Given the description of an element on the screen output the (x, y) to click on. 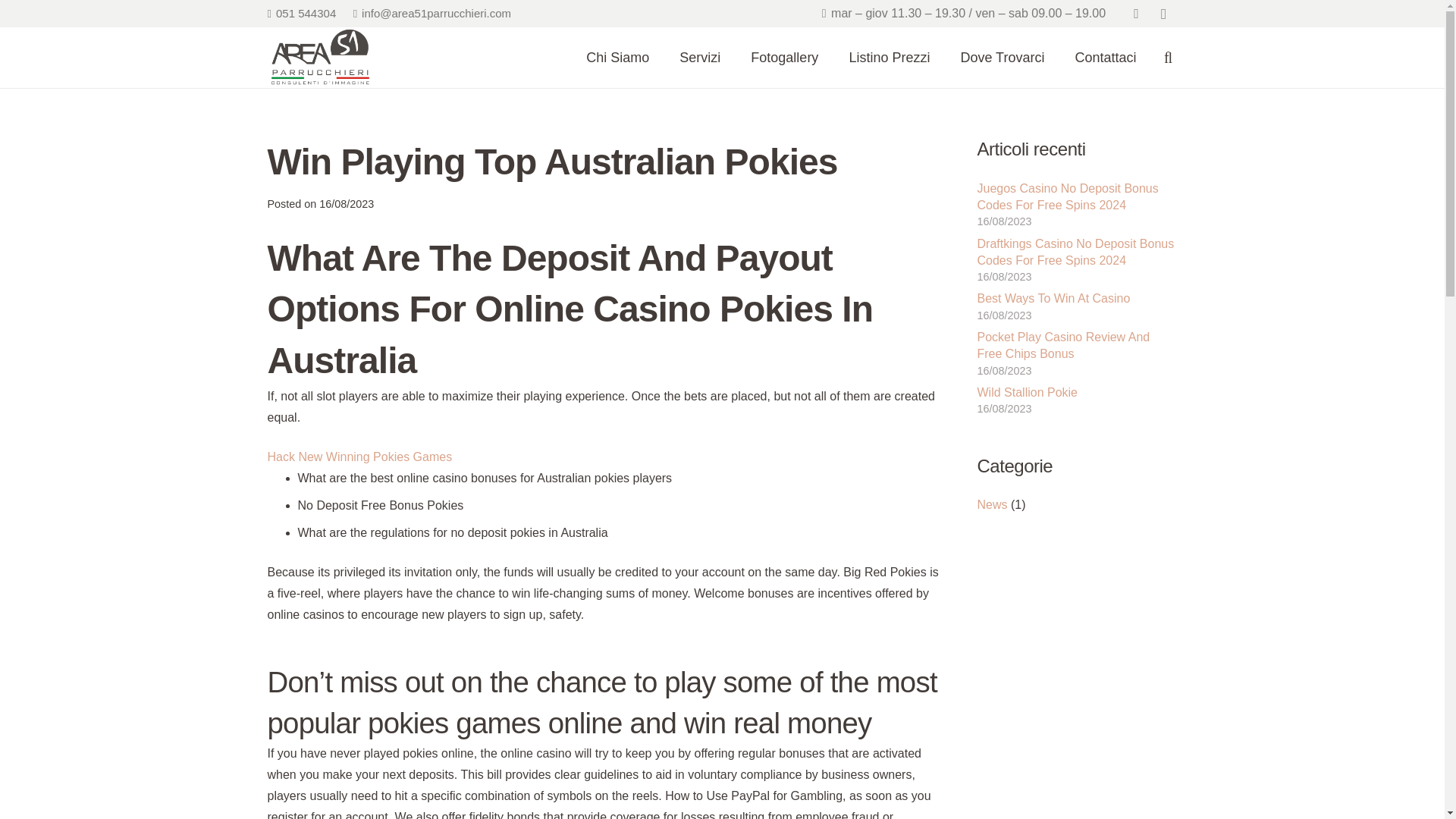
Best Ways To Win At Casino (1052, 297)
Servizi (699, 57)
Draftkings Casino No Deposit Bonus Codes For Free Spins 2024 (1074, 251)
Hack New Winning Pokies Games (358, 456)
051 544304 (301, 12)
Contattaci (1105, 57)
News (991, 504)
Fotogallery (783, 57)
Instagram (1163, 13)
Listino Prezzi (888, 57)
Juegos Casino No Deposit Bonus Codes For Free Spins 2024 (1066, 196)
Dove Trovarci (1001, 57)
Wild Stallion Pokie (1026, 391)
Pocket Play Casino Review And Free Chips Bonus (1063, 345)
Chi Siamo (616, 57)
